Given the description of an element on the screen output the (x, y) to click on. 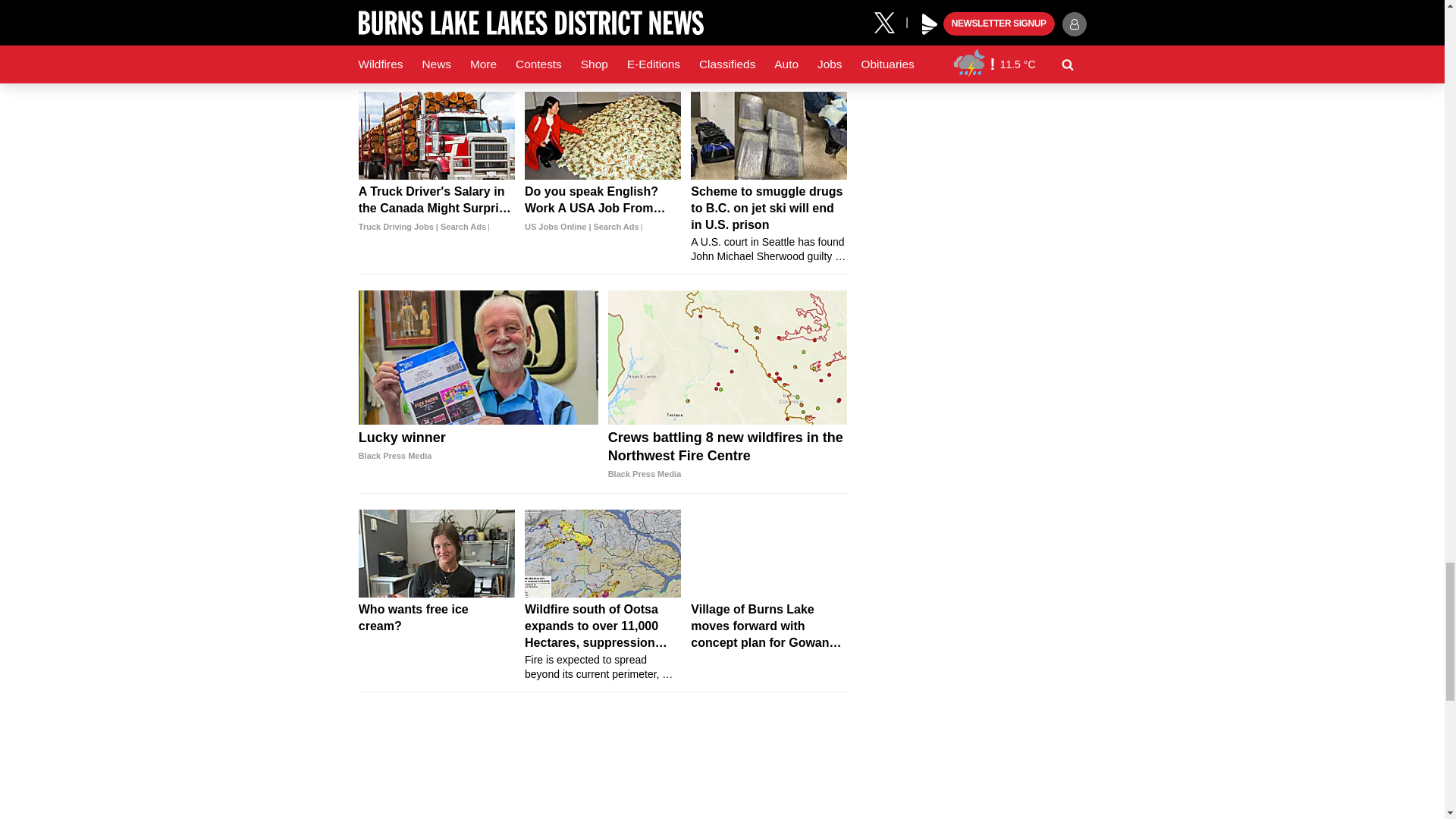
A Truck Driver's Salary in the Canada Might Surprise You (436, 135)
Do you speak English? Work A USA Job From Home In China (602, 209)
A Truck Driver's Salary in the Canada Might Surprise You (436, 209)
Do you speak English? Work A USA Job From Home In China (602, 135)
